Given the description of an element on the screen output the (x, y) to click on. 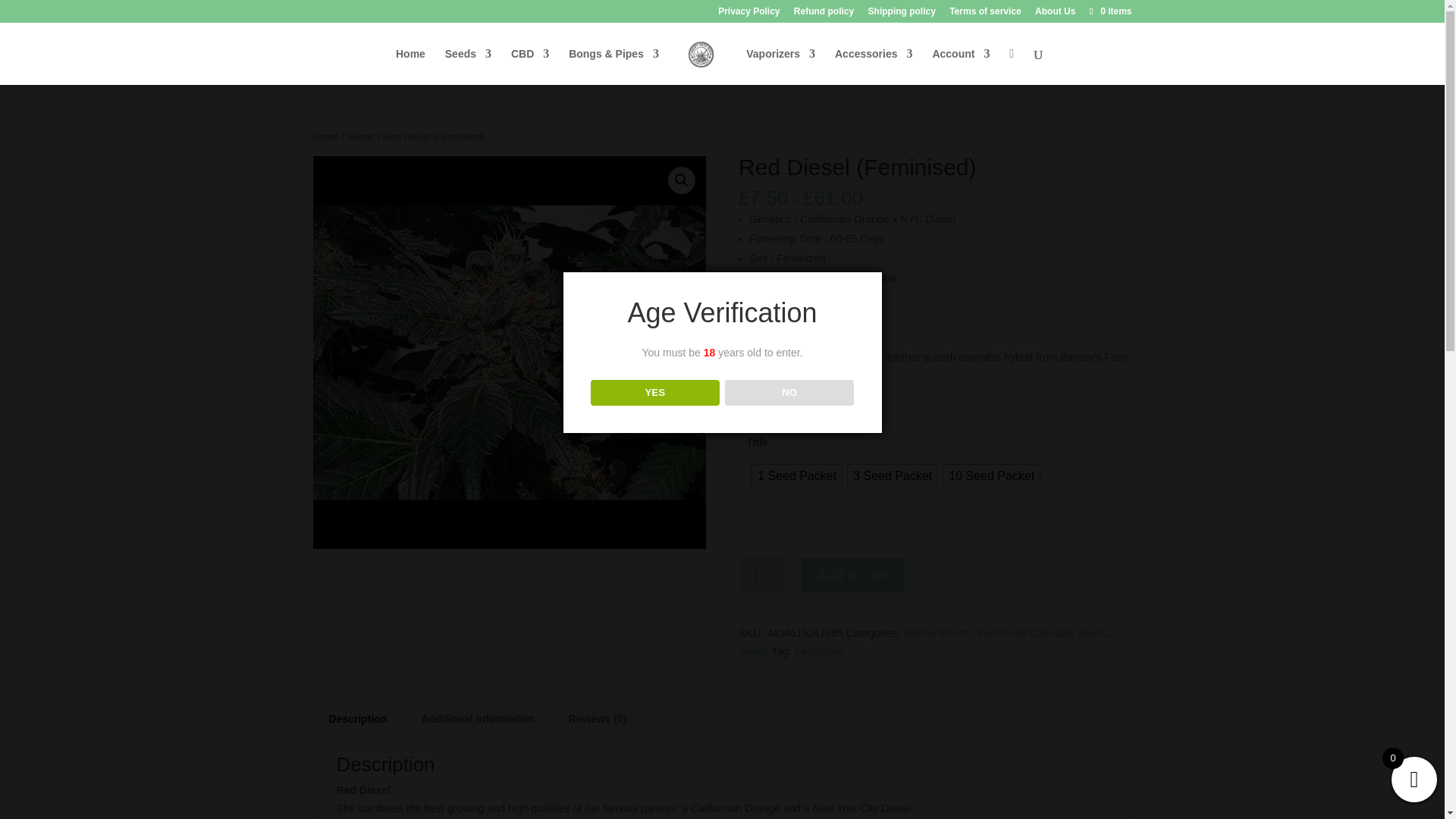
3 Seed Packet (892, 476)
1 Seed Packet (796, 476)
0 Items (1108, 10)
Shipping policy (901, 14)
Privacy Policy (747, 14)
Seeds (468, 66)
Accessories (873, 66)
Terms of service (985, 14)
CBD (529, 66)
10 Seed Packet (991, 476)
